Given the description of an element on the screen output the (x, y) to click on. 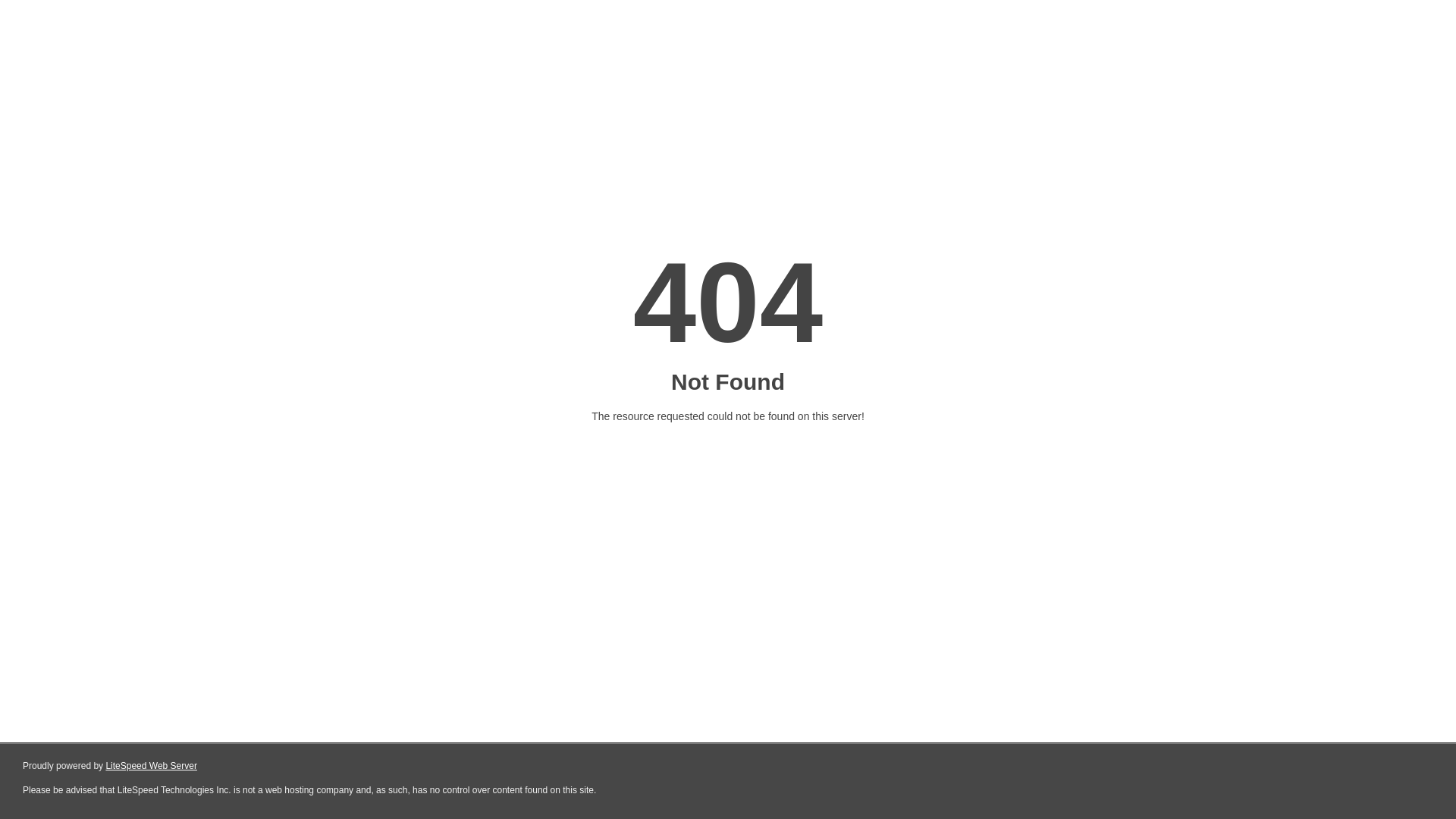
LiteSpeed Web Server Element type: text (151, 765)
